Given the description of an element on the screen output the (x, y) to click on. 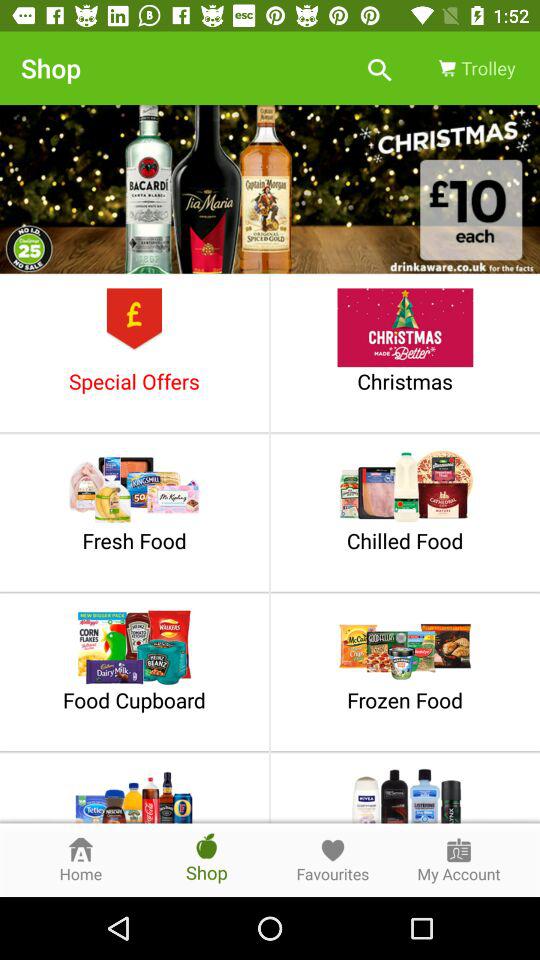
choose item to the left of the trolley (379, 67)
